Given the description of an element on the screen output the (x, y) to click on. 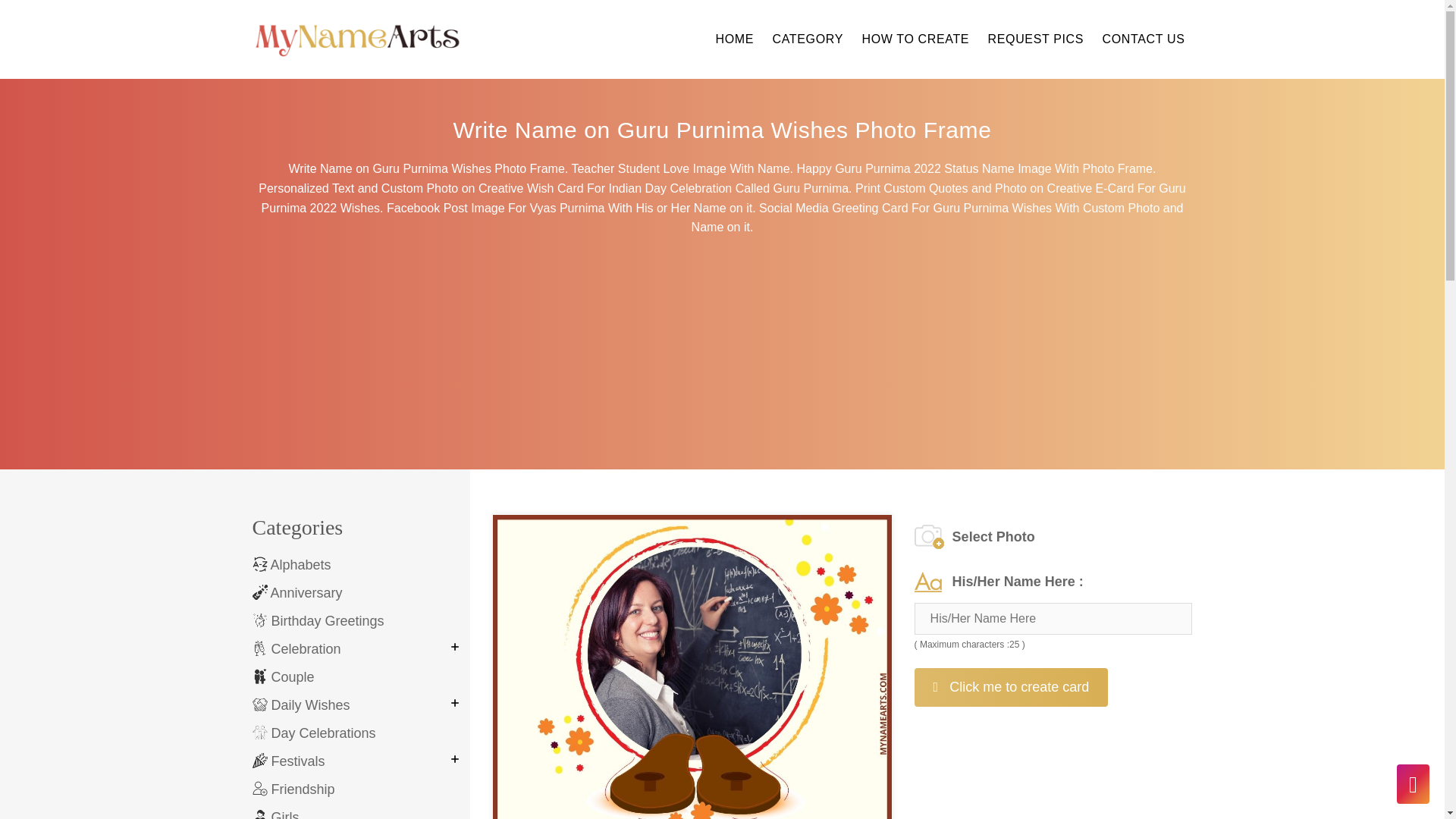
CONTACT US (1143, 38)
REQUEST PICS (1035, 38)
CATEGORY (807, 38)
HOME (734, 38)
HOW TO CREATE (914, 38)
